Given the description of an element on the screen output the (x, y) to click on. 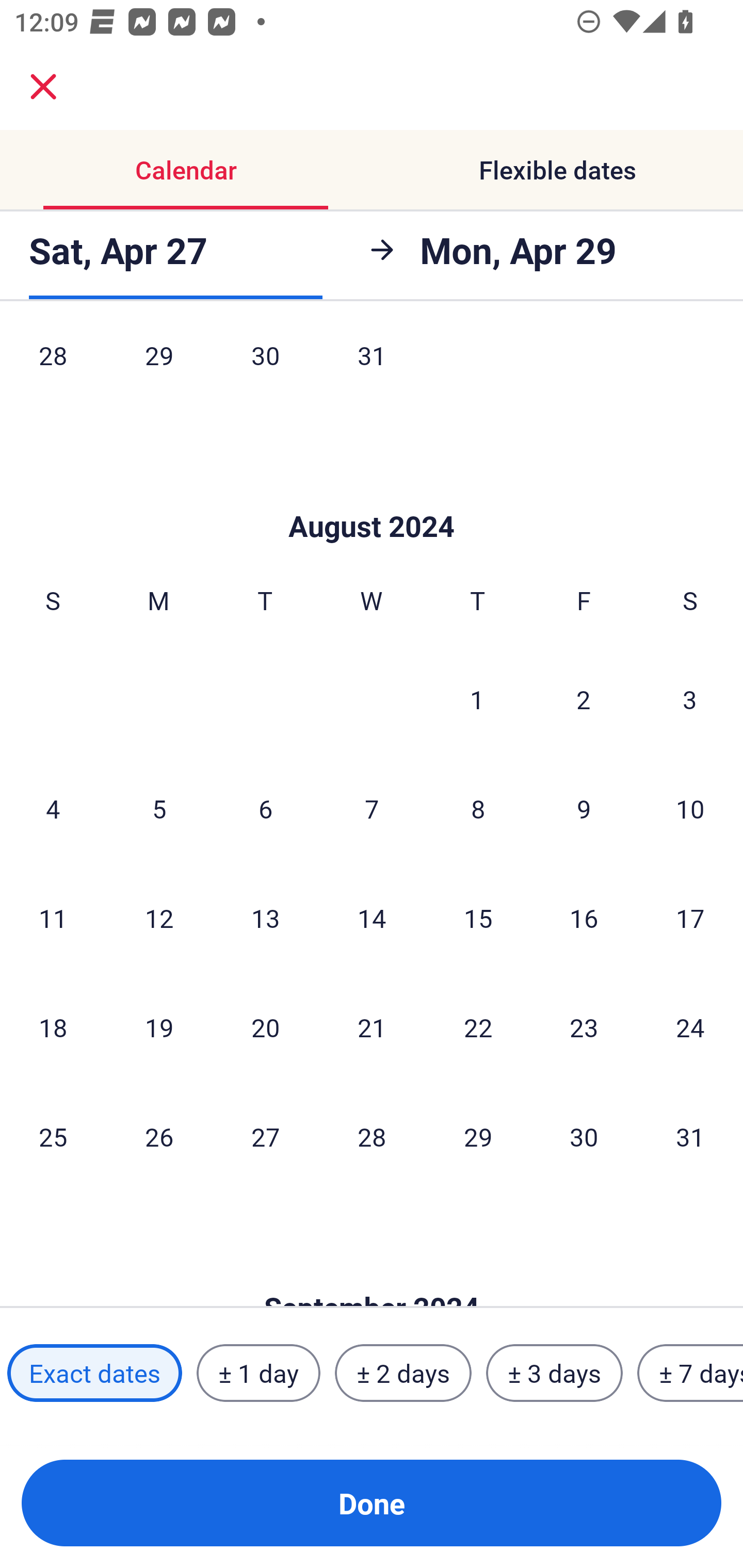
close. (43, 86)
Flexible dates (557, 170)
28 Sunday, July 28, 2024 (53, 368)
29 Monday, July 29, 2024 (159, 368)
30 Tuesday, July 30, 2024 (265, 368)
31 Wednesday, July 31, 2024 (371, 368)
Skip to Done (371, 495)
1 Thursday, August 1, 2024 (477, 699)
2 Friday, August 2, 2024 (583, 699)
3 Saturday, August 3, 2024 (689, 699)
4 Sunday, August 4, 2024 (53, 807)
5 Monday, August 5, 2024 (159, 807)
6 Tuesday, August 6, 2024 (265, 807)
7 Wednesday, August 7, 2024 (371, 807)
8 Thursday, August 8, 2024 (477, 807)
9 Friday, August 9, 2024 (584, 807)
10 Saturday, August 10, 2024 (690, 807)
11 Sunday, August 11, 2024 (53, 917)
12 Monday, August 12, 2024 (159, 917)
13 Tuesday, August 13, 2024 (265, 917)
14 Wednesday, August 14, 2024 (371, 917)
15 Thursday, August 15, 2024 (477, 917)
16 Friday, August 16, 2024 (584, 917)
17 Saturday, August 17, 2024 (690, 917)
18 Sunday, August 18, 2024 (53, 1026)
19 Monday, August 19, 2024 (159, 1026)
20 Tuesday, August 20, 2024 (265, 1026)
21 Wednesday, August 21, 2024 (371, 1026)
22 Thursday, August 22, 2024 (477, 1026)
23 Friday, August 23, 2024 (584, 1026)
24 Saturday, August 24, 2024 (690, 1026)
25 Sunday, August 25, 2024 (53, 1136)
26 Monday, August 26, 2024 (159, 1136)
27 Tuesday, August 27, 2024 (265, 1136)
28 Wednesday, August 28, 2024 (371, 1136)
29 Thursday, August 29, 2024 (477, 1136)
30 Friday, August 30, 2024 (584, 1136)
31 Saturday, August 31, 2024 (690, 1136)
Exact dates (94, 1372)
± 1 day (258, 1372)
± 2 days (403, 1372)
± 3 days (553, 1372)
± 7 days (690, 1372)
Done (371, 1502)
